Given the description of an element on the screen output the (x, y) to click on. 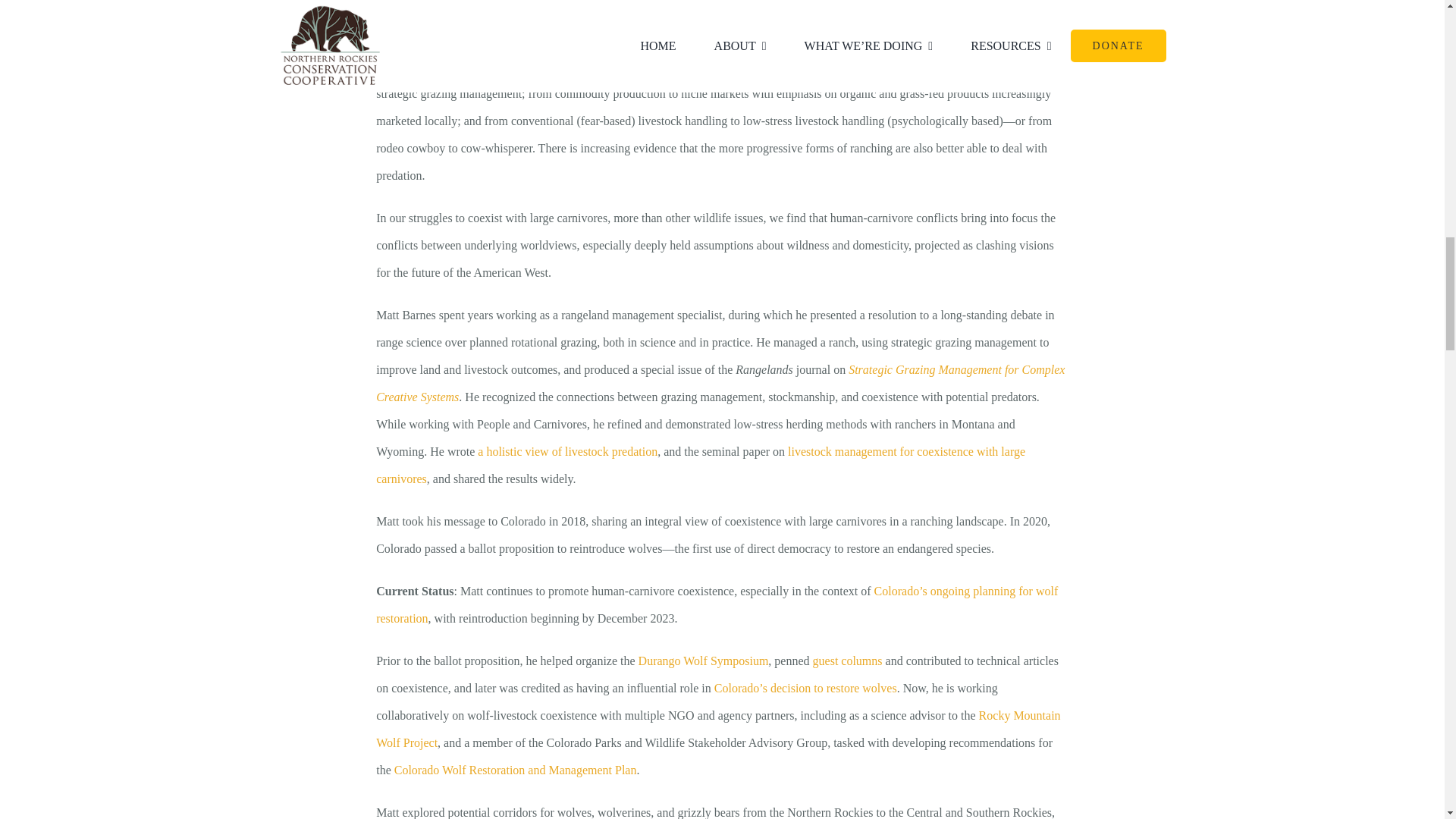
Rocky Mountain Wolf Project (717, 729)
Strategic Grazing Management for Complex Creative Systems (719, 383)
livestock management for coexistence with large carnivores (700, 465)
guest columns (847, 660)
a holistic view of livestock predation (567, 451)
Colorado Wolf Restoration and Management Plan (515, 769)
Durango Wolf Symposium (703, 660)
